Given the description of an element on the screen output the (x, y) to click on. 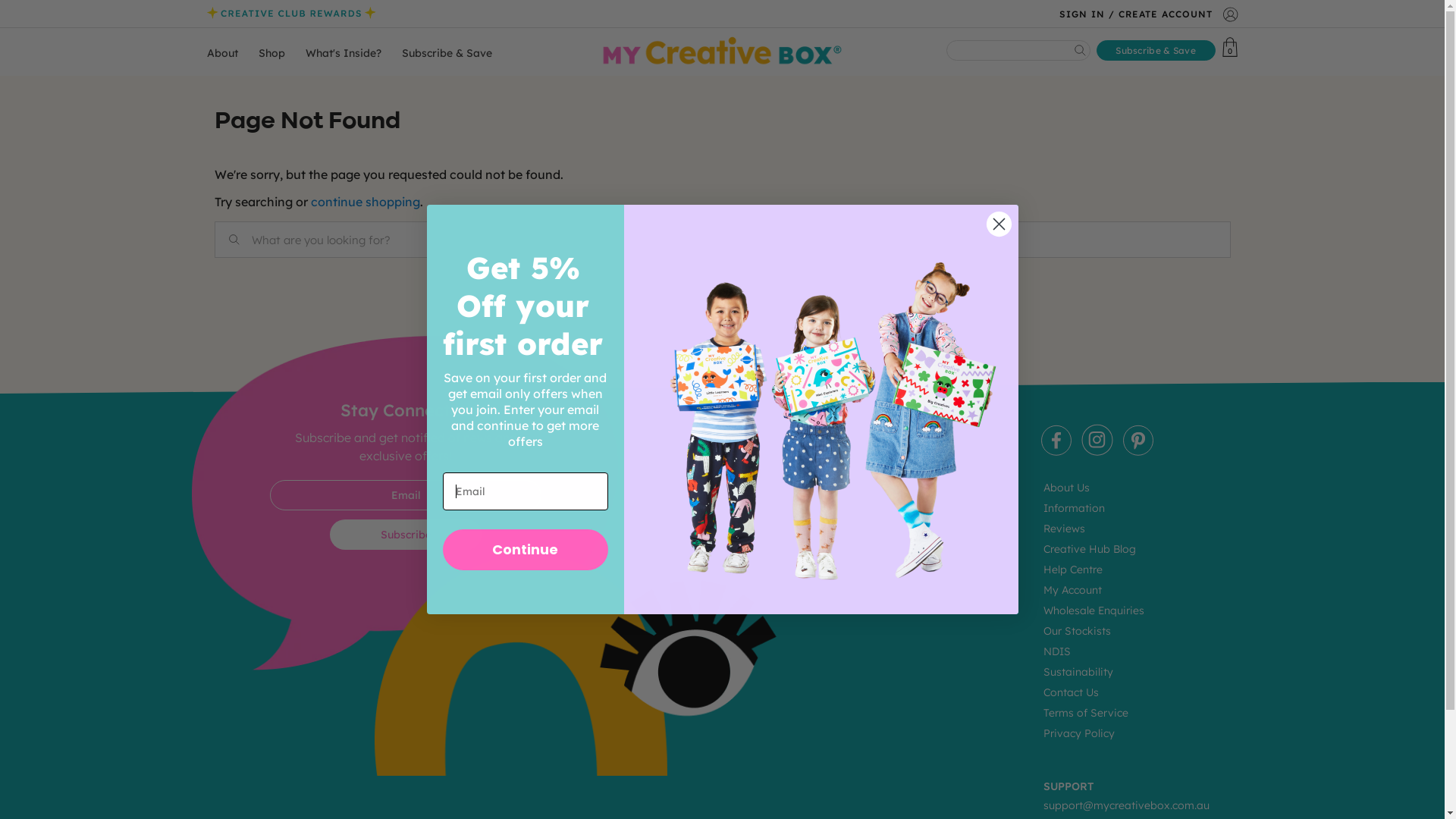
SIGN IN Element type: text (1081, 16)
support@mycreativebox.com.au Element type: text (1126, 805)
Continue Element type: text (525, 549)
Help Centre Element type: text (1072, 569)
NDIS Element type: text (1056, 651)
Kids smiling with My Creative Box activity boxes Element type: hover (820, 409)
Subscribe Element type: text (405, 534)
Contact Us Element type: text (1070, 692)
Creative Hub Blog Element type: text (1089, 548)
INR Element type: text (1101, 693)
0 Element type: text (1229, 47)
Reviews Element type: text (1064, 528)
My Creative Box on Instagram Element type: hover (1097, 451)
Close dialog 1 Element type: text (998, 223)
My Creative Box on Facebook Element type: hover (1056, 451)
Terms of Service Element type: text (1085, 712)
EUR Element type: text (1101, 784)
Our Stockists Element type: text (1076, 630)
continue shopping Element type: text (365, 201)
Shop Element type: text (270, 52)
GBP Element type: text (1101, 724)
CREATE ACCOUNT Element type: text (1164, 16)
Submit Element type: text (22, 9)
USD Element type: text (1101, 633)
What's Inside? Element type: text (342, 52)
Subscribe & Save Element type: text (1155, 49)
Wholesale Enquiries Element type: text (1093, 610)
Subscribe & Save Element type: text (446, 52)
My Creative Box on Pinterest Element type: hover (1138, 451)
My Creative Box Element type: hover (722, 51)
CAD Element type: text (1101, 663)
Privacy Policy Element type: text (1078, 733)
My Account Element type: text (1072, 589)
AUD Element type: text (1101, 754)
About Us Element type: text (1066, 487)
Sustainability Element type: text (1078, 671)
About Element type: text (221, 52)
Information Element type: text (1073, 507)
